Given the description of an element on the screen output the (x, y) to click on. 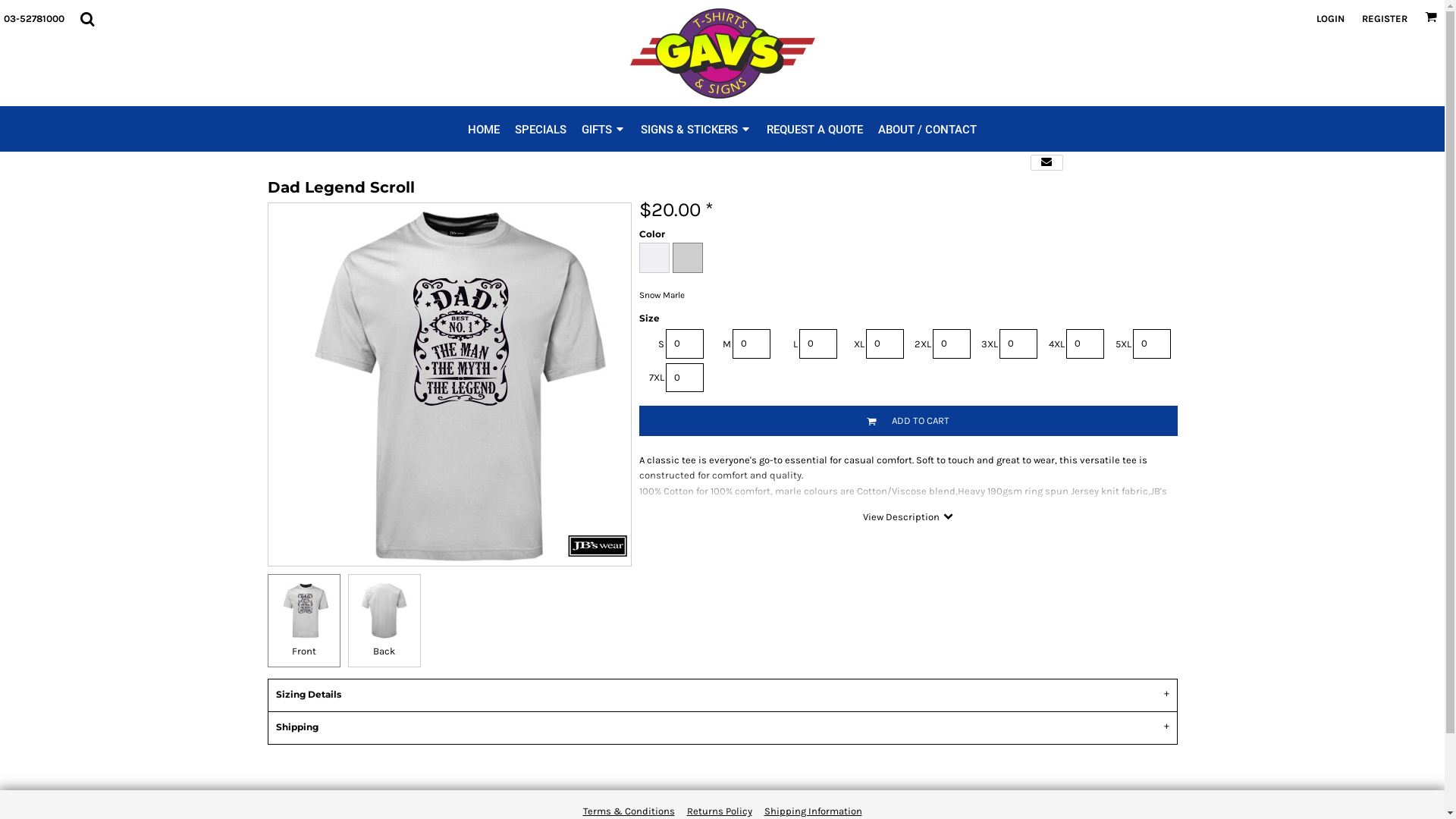
LOGIN Element type: text (1330, 18)
Back Element type: text (383, 621)
REQUEST A QUOTE Element type: text (814, 128)
HOME Element type: text (483, 128)
Front Element type: text (302, 621)
Returns Policy Element type: text (719, 810)
SIGNS & STICKERS Element type: text (695, 128)
Terms & Conditions Element type: text (628, 810)
REGISTER Element type: text (1384, 18)
White Element type: hover (653, 257)
ABOUT / CONTACT Element type: text (927, 128)
SPECIALS Element type: text (540, 128)
Snow Marle Element type: hover (686, 257)
Shipping Information Element type: text (813, 810)
GIFTS Element type: text (603, 128)
ADD TO CART Element type: text (907, 420)
